Given the description of an element on the screen output the (x, y) to click on. 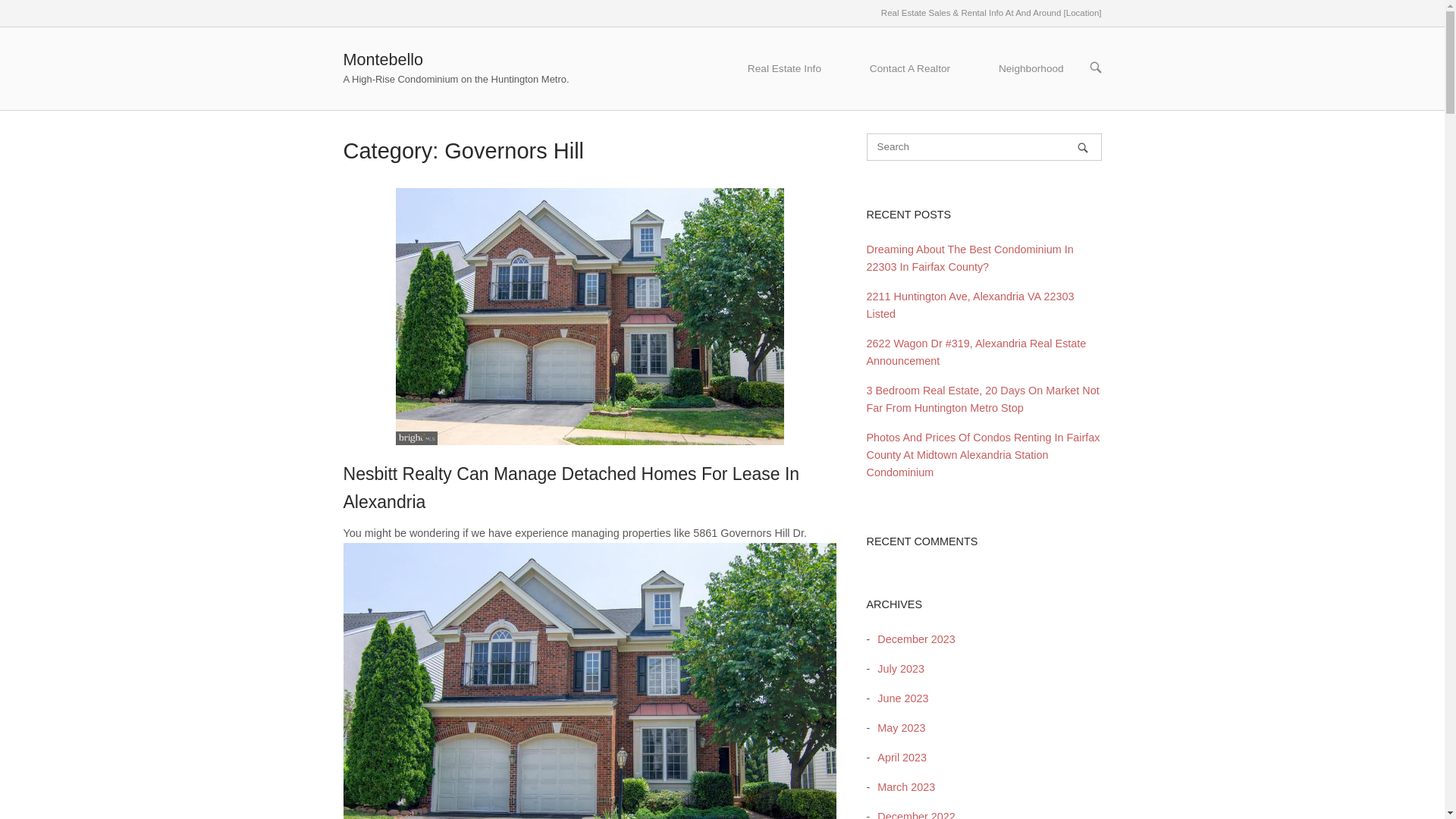
Contact A Realtor (909, 68)
Montebello (382, 58)
Neighborhood (1030, 68)
Real Estate Info (784, 68)
